Given the description of an element on the screen output the (x, y) to click on. 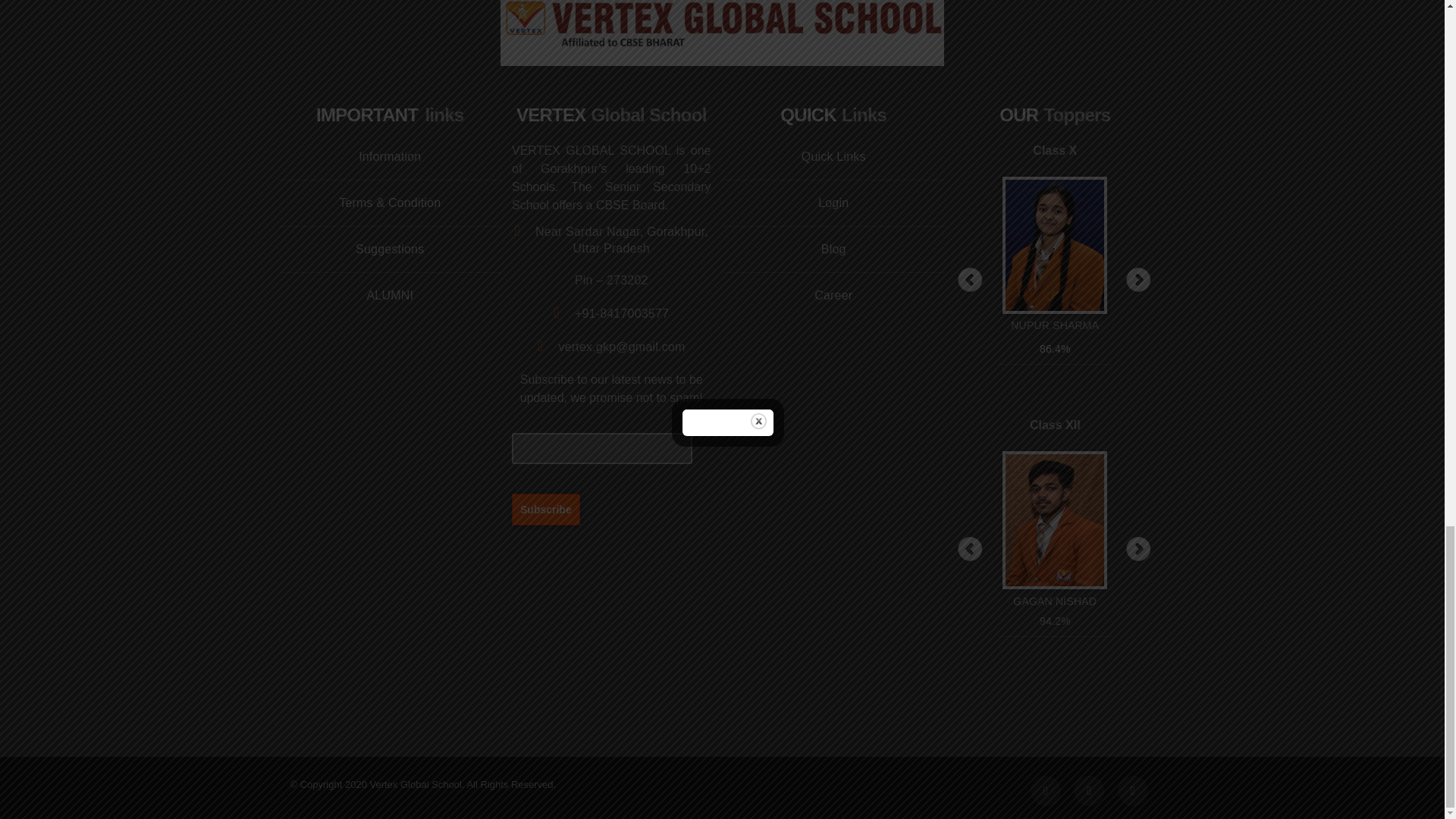
Subscribe (545, 508)
